Given the description of an element on the screen output the (x, y) to click on. 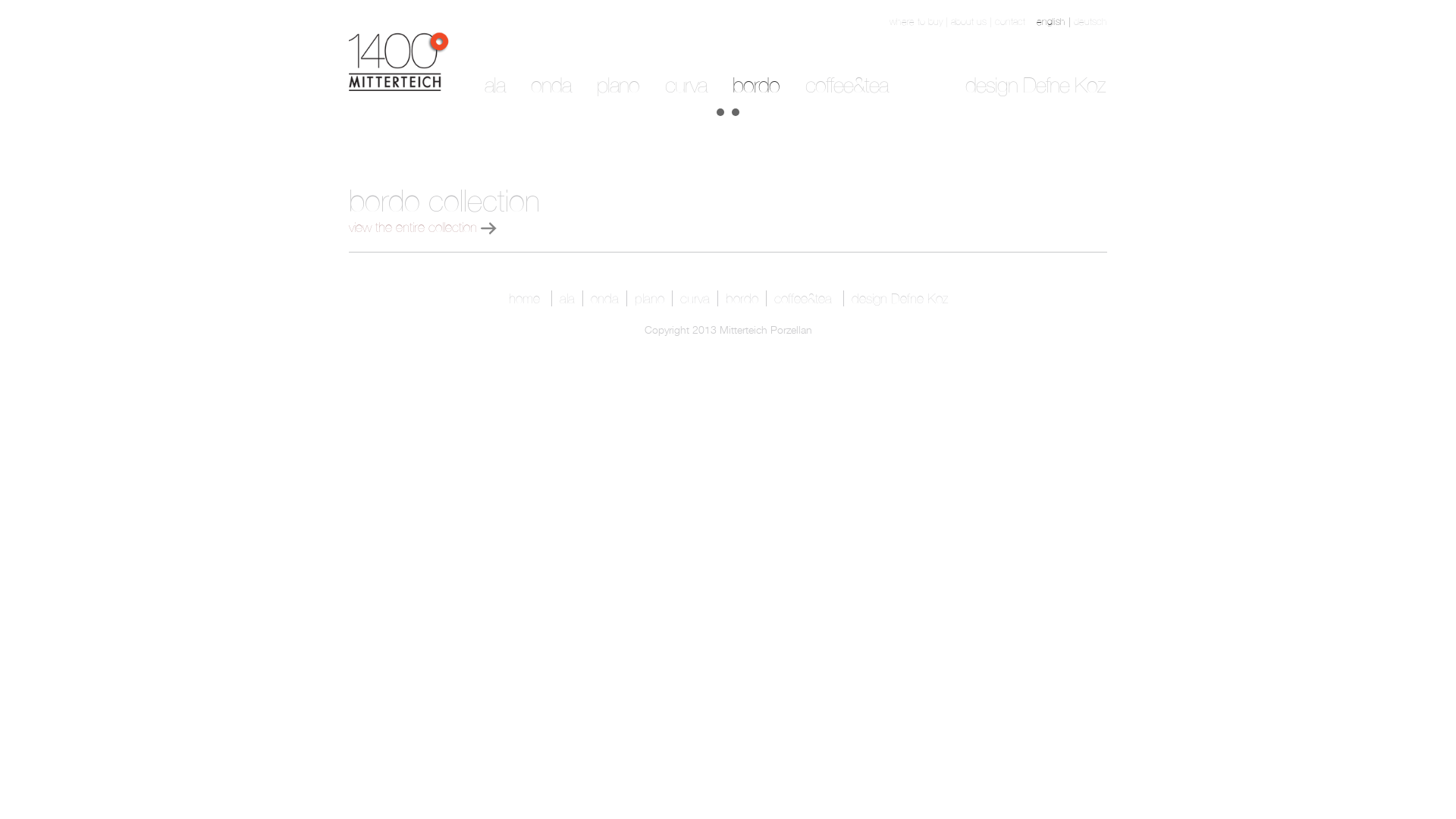
onda Element type: text (550, 84)
bordo Element type: text (740, 298)
design Defne Koz Element type: text (1034, 84)
ala Element type: text (494, 84)
contact Element type: text (1009, 21)
coffee&tea Element type: text (846, 84)
where to buy | Element type: text (919, 21)
plano Element type: text (648, 298)
deutsch Element type: text (1090, 21)
1 Element type: text (720, 112)
coffee&tea Element type: text (802, 298)
ala Element type: text (566, 298)
curva Element type: text (685, 84)
plano Element type: text (617, 84)
curva Element type: text (694, 298)
home Element type: text (523, 298)
design Defne Koz Element type: text (898, 298)
onda Element type: text (603, 298)
2 Element type: text (735, 112)
english | Element type: text (1054, 21)
about us | Element type: text (972, 21)
bordo Element type: text (755, 84)
